Given the description of an element on the screen output the (x, y) to click on. 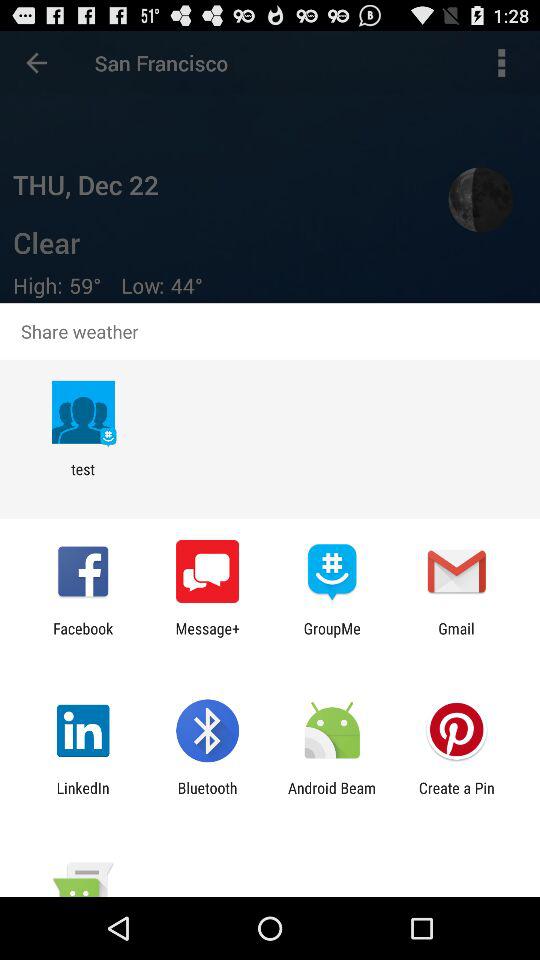
select the item to the right of the bluetooth icon (332, 796)
